Given the description of an element on the screen output the (x, y) to click on. 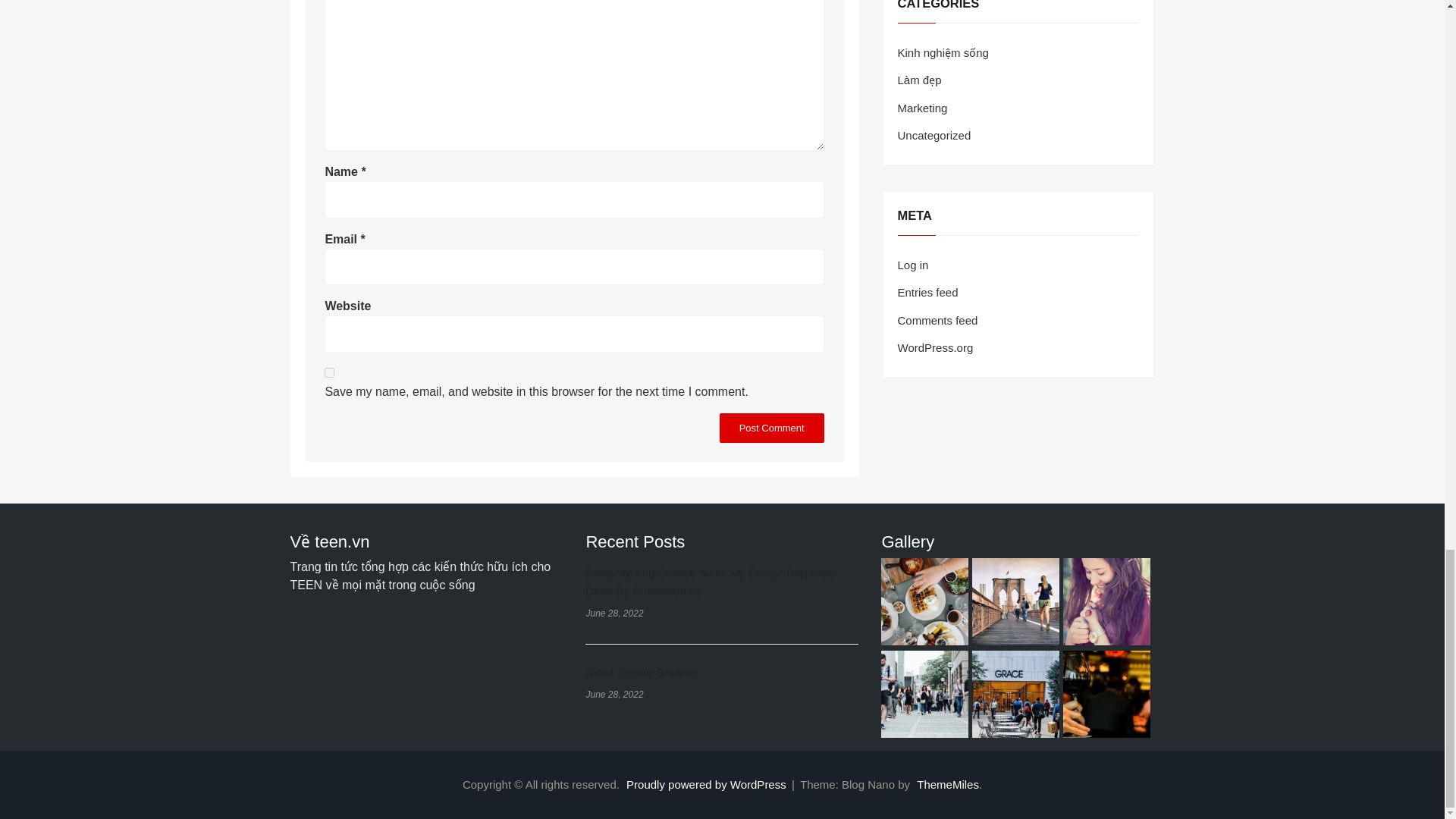
yes (329, 372)
Post Comment (771, 428)
